Given the description of an element on the screen output the (x, y) to click on. 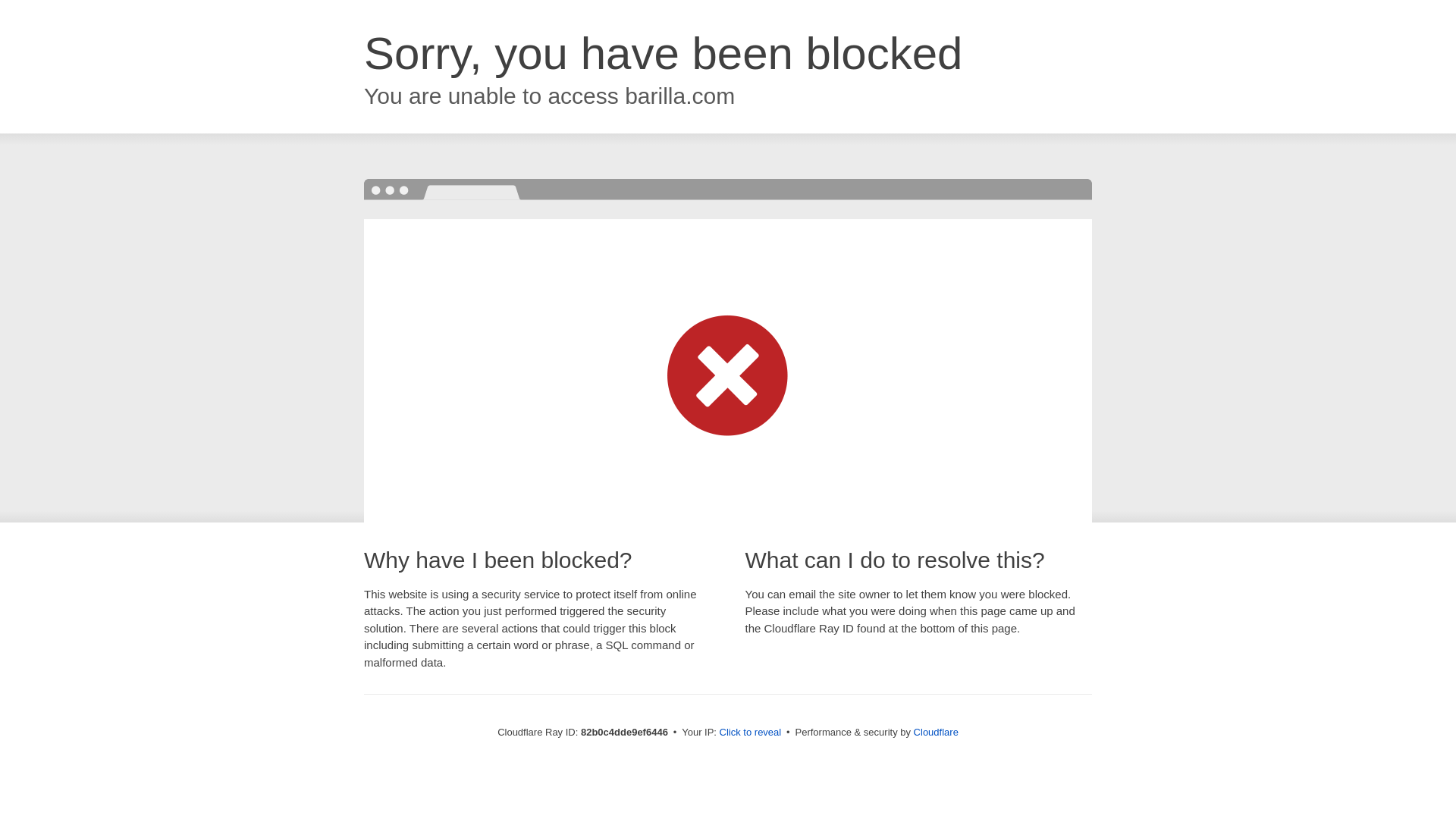
Click to reveal Element type: text (750, 732)
Cloudflare Element type: text (935, 731)
